Given the description of an element on the screen output the (x, y) to click on. 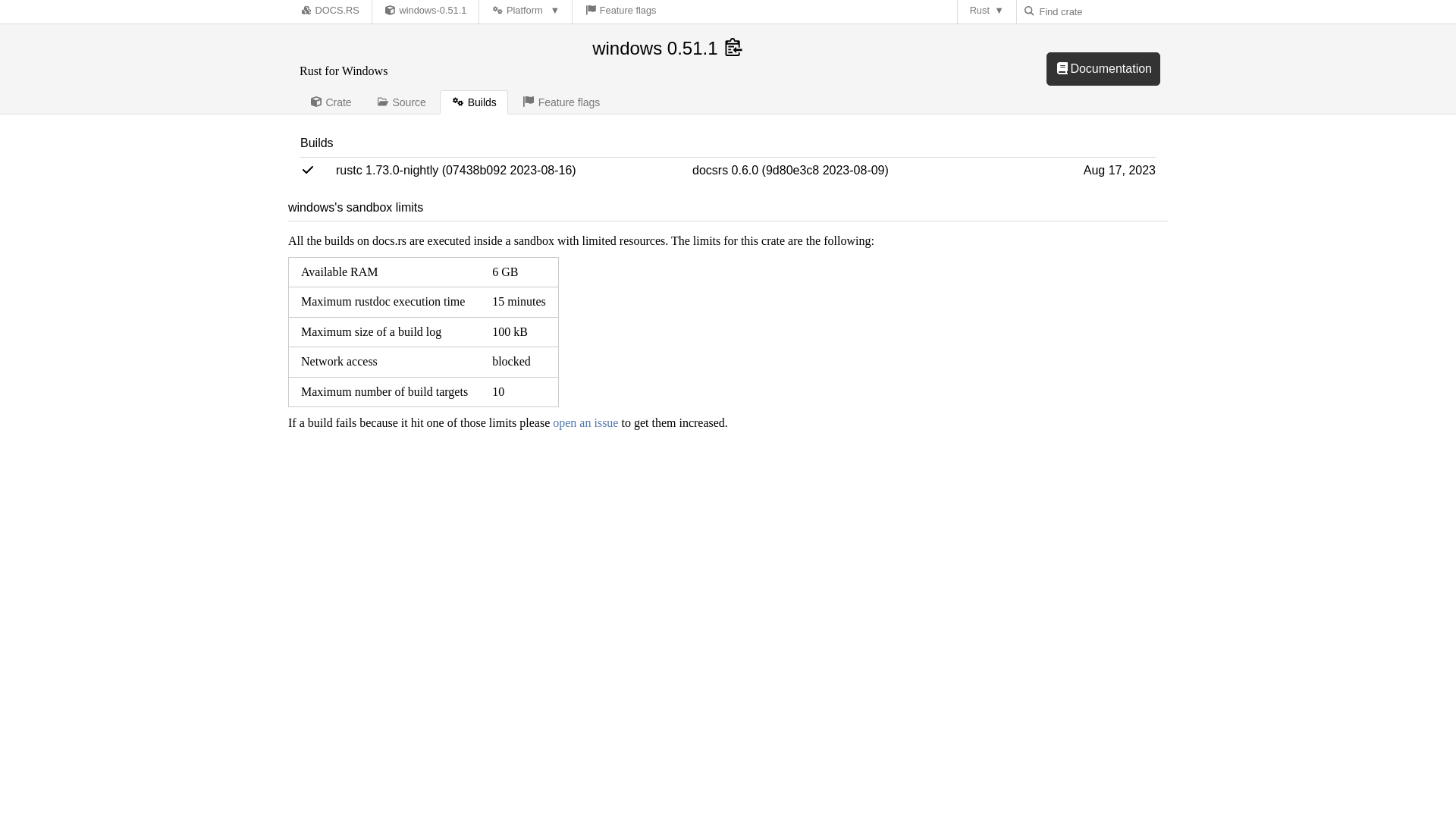
Feature flags (620, 11)
Rust for Windows (425, 11)
Browse available feature flags of windows-0.51.1 (620, 11)
open an issue (585, 422)
Documentation (1103, 68)
Feature flags (560, 101)
Crate (330, 101)
Docs.rs (306, 9)
Platform (525, 11)
Rust (987, 11)
Source (400, 101)
Builds (473, 102)
DOCS.RS (329, 11)
windows-0.51.1 (425, 11)
Copy crate name and version information (733, 48)
